Given the description of an element on the screen output the (x, y) to click on. 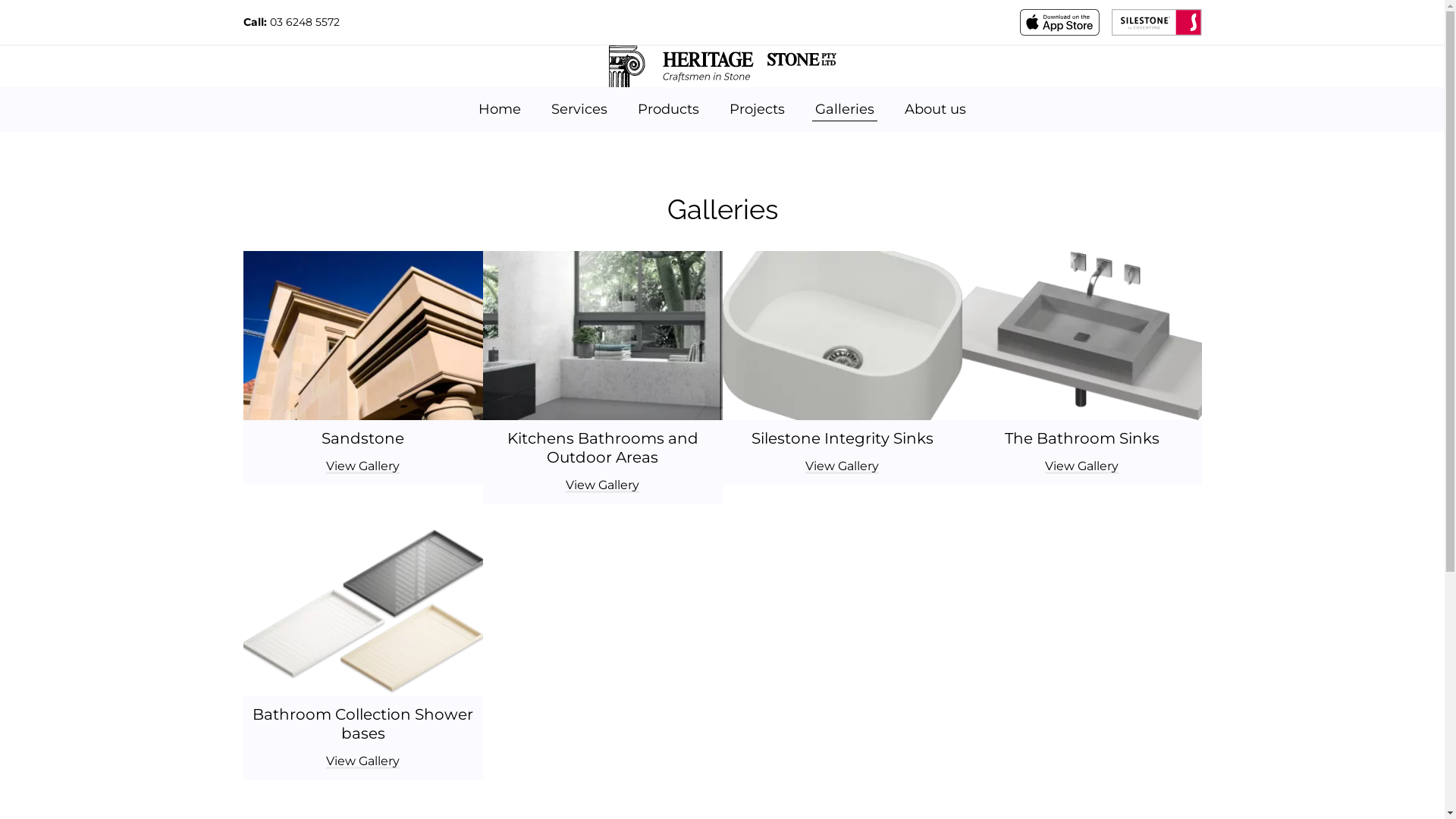
Call: 03 6248 5572 Element type: text (290, 22)
Bathroom Collection Shower bases Element type: text (362, 724)
Galleries Element type: text (844, 109)
View Gallery Element type: text (362, 760)
Projects Element type: text (756, 109)
View Gallery Element type: text (602, 484)
View Gallery Element type: text (841, 465)
Kitchens Bathrooms and Outdoor Areas Element type: text (601, 448)
Home Element type: text (499, 109)
View Gallery Element type: text (362, 465)
The Bathroom Sinks Element type: text (1081, 438)
Products Element type: text (668, 109)
Services Element type: text (579, 109)
View Gallery Element type: text (1081, 465)
About us Element type: text (935, 109)
Sandstone Element type: text (362, 438)
Silestone Integrity Sinks Element type: text (841, 438)
